Given the description of an element on the screen output the (x, y) to click on. 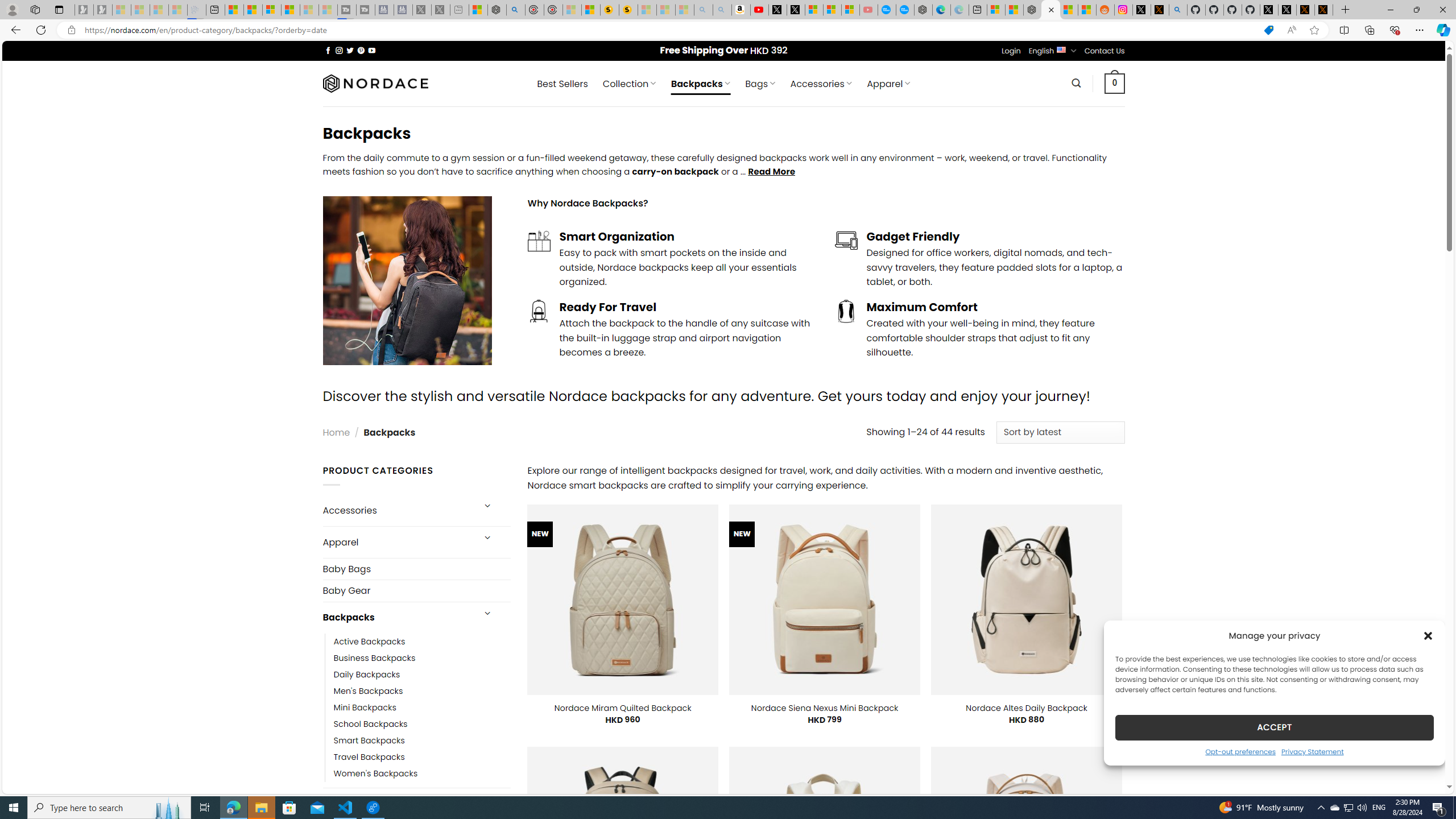
Nordace - Backpacks (1050, 9)
Daily Backpacks (366, 674)
Login (1010, 50)
Baby Bags (416, 568)
Follow on YouTube (371, 49)
Microsoft Start - Sleeping (309, 9)
X Privacy Policy (1324, 9)
Baby Gear (416, 590)
